Given the description of an element on the screen output the (x, y) to click on. 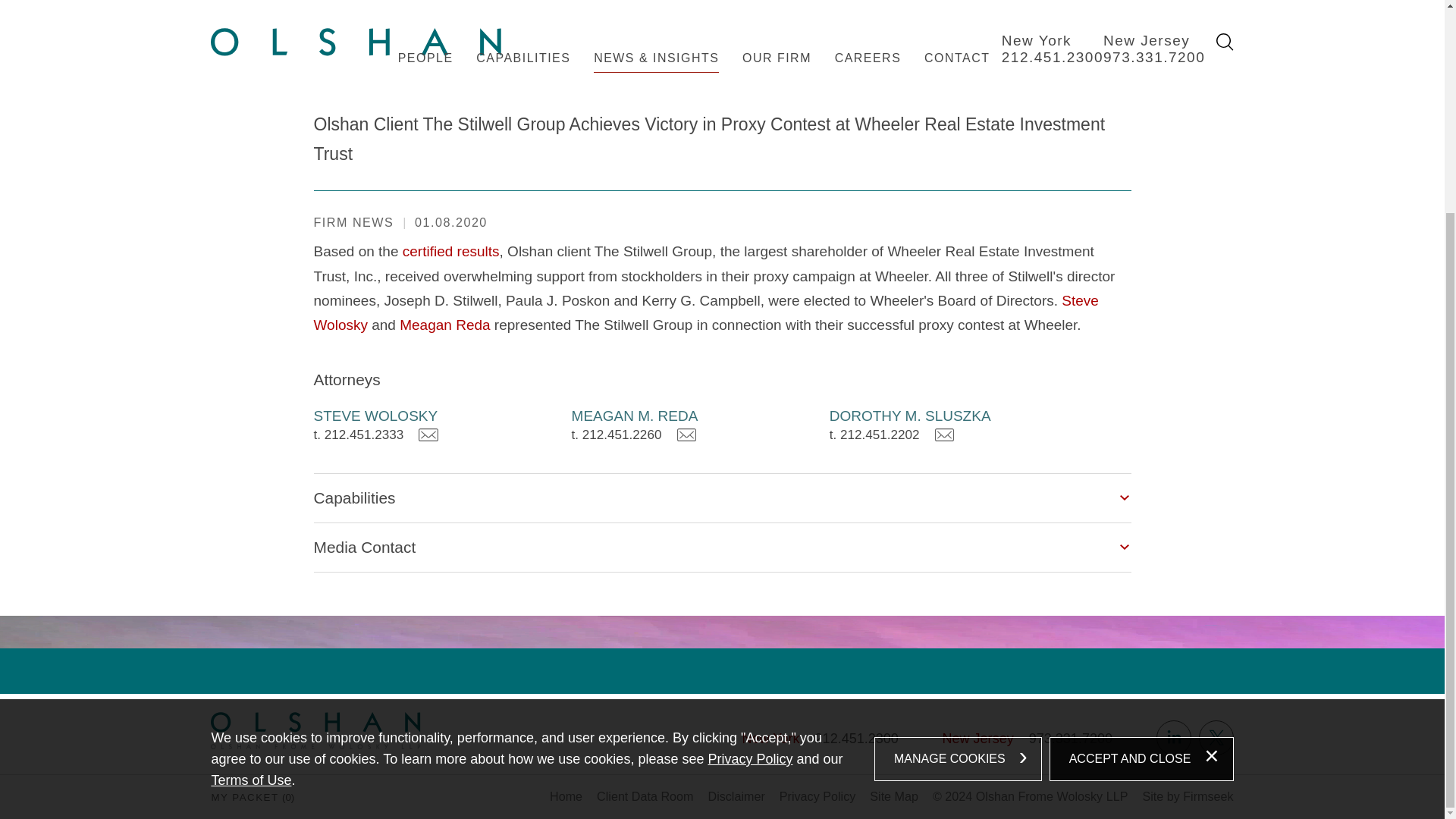
Footer Logo (315, 730)
Linkedin (1173, 737)
Linkedin (1173, 737)
Twitter (1215, 737)
